Given the description of an element on the screen output the (x, y) to click on. 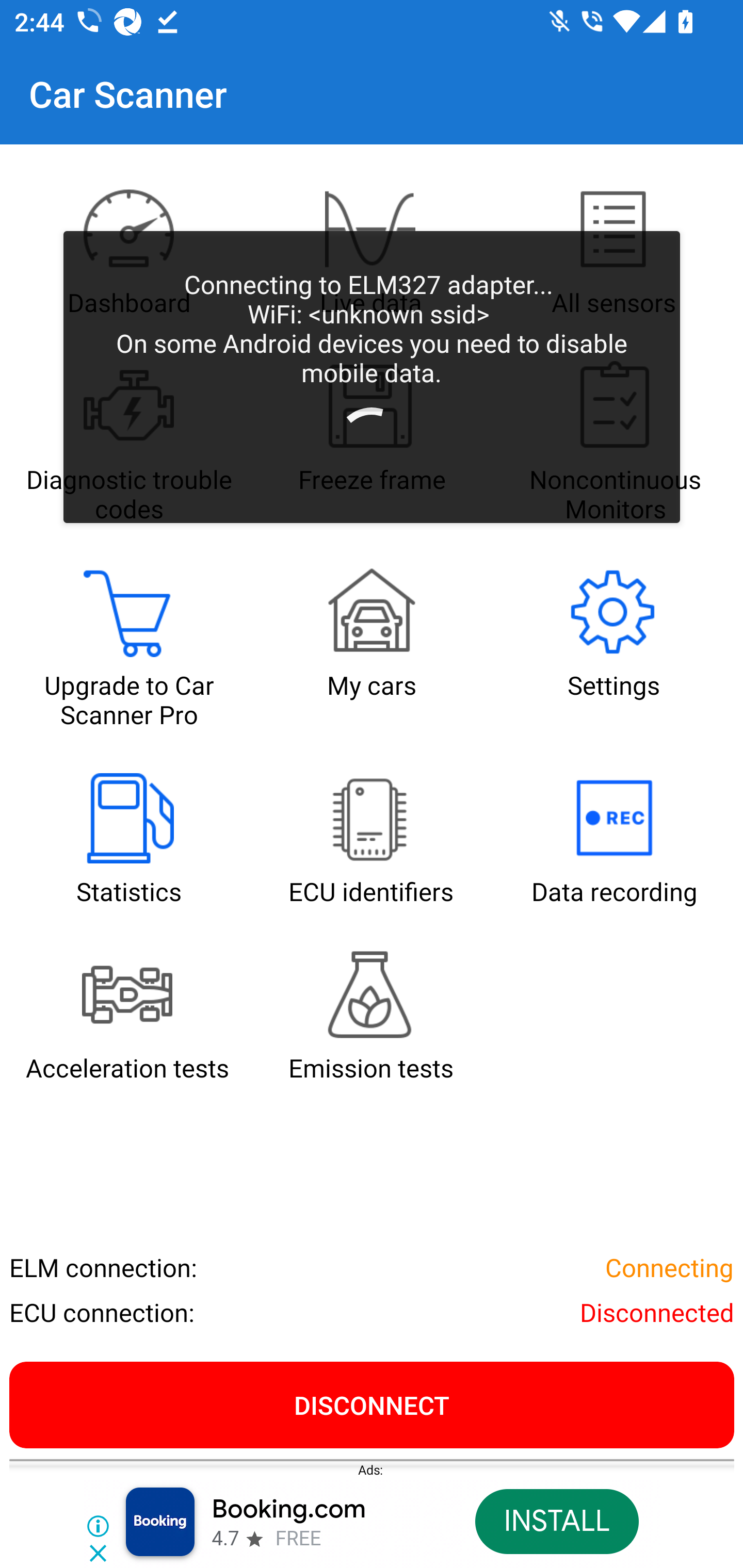
DISCONNECT (371, 1404)
INSTALL (556, 1521)
Booking.com (288, 1509)
4.7 (224, 1539)
FREE (298, 1539)
